Given the description of an element on the screen output the (x, y) to click on. 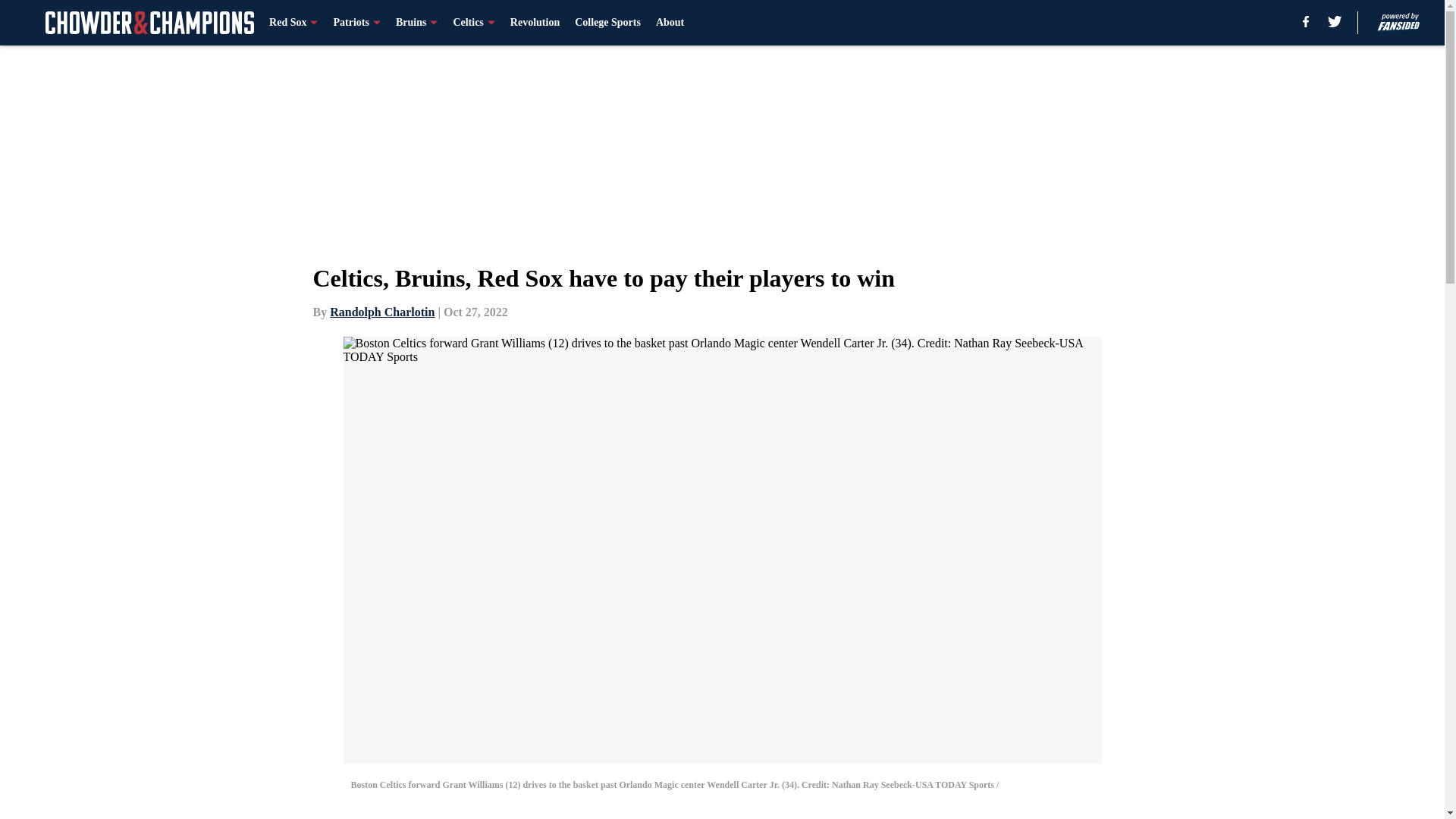
Revolution (535, 22)
Randolph Charlotin (381, 311)
College Sports (607, 22)
About (670, 22)
